Given the description of an element on the screen output the (x, y) to click on. 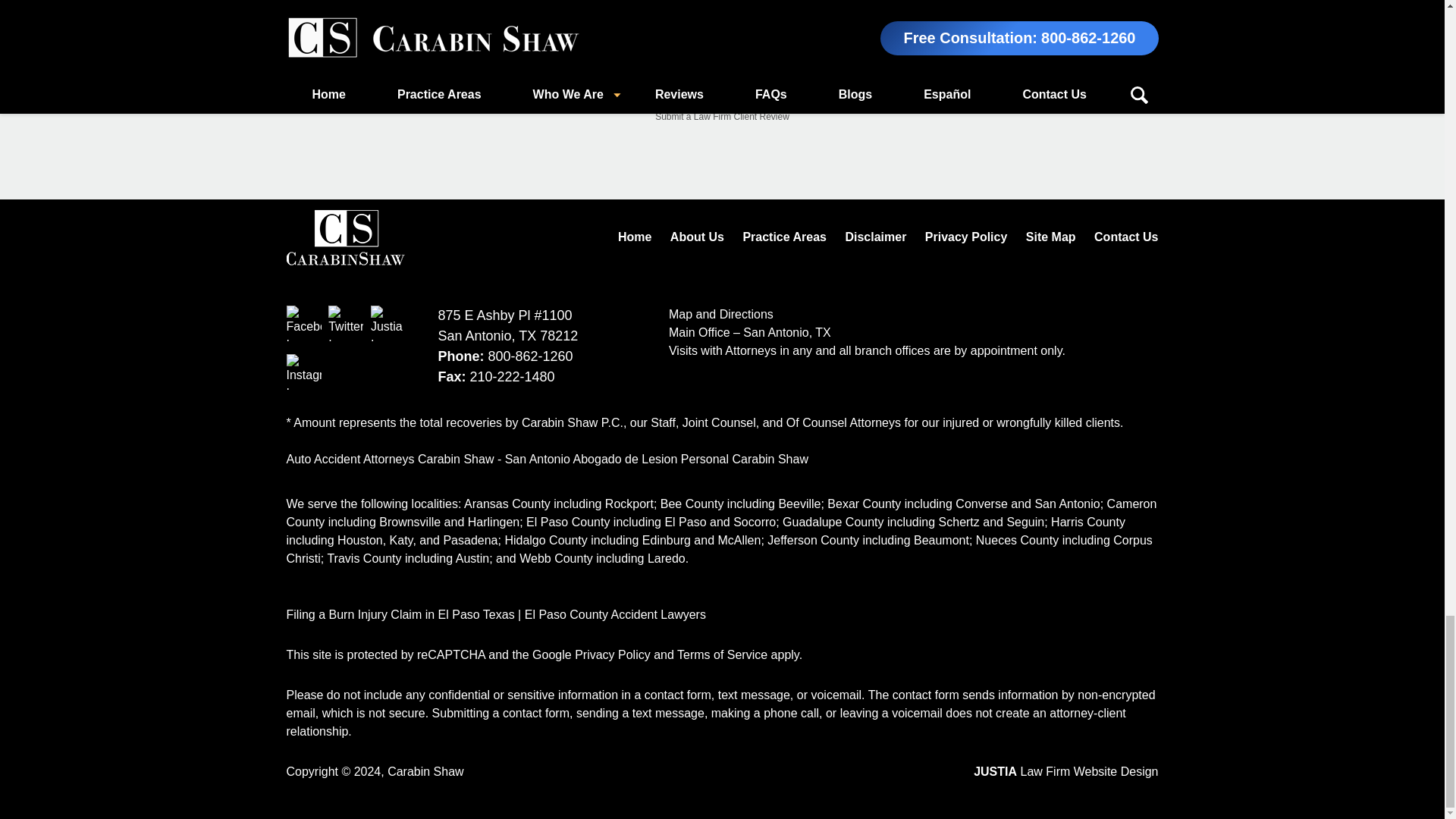
Instagram (303, 371)
Facebook (303, 322)
Twitter (345, 322)
Justia (388, 322)
